Given the description of an element on the screen output the (x, y) to click on. 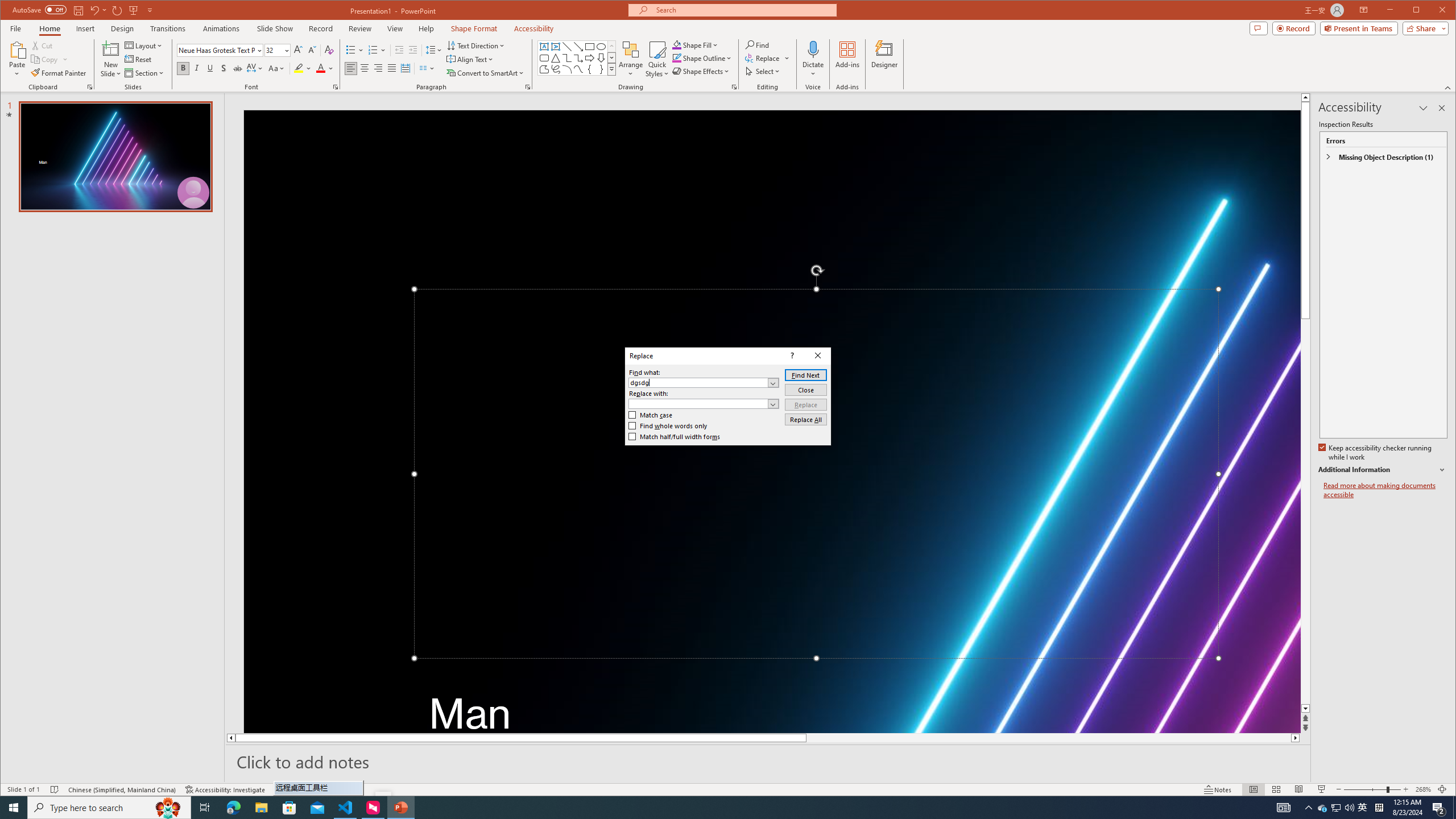
Subtitle TextBox (816, 705)
Find Next (805, 374)
